Given the description of an element on the screen output the (x, y) to click on. 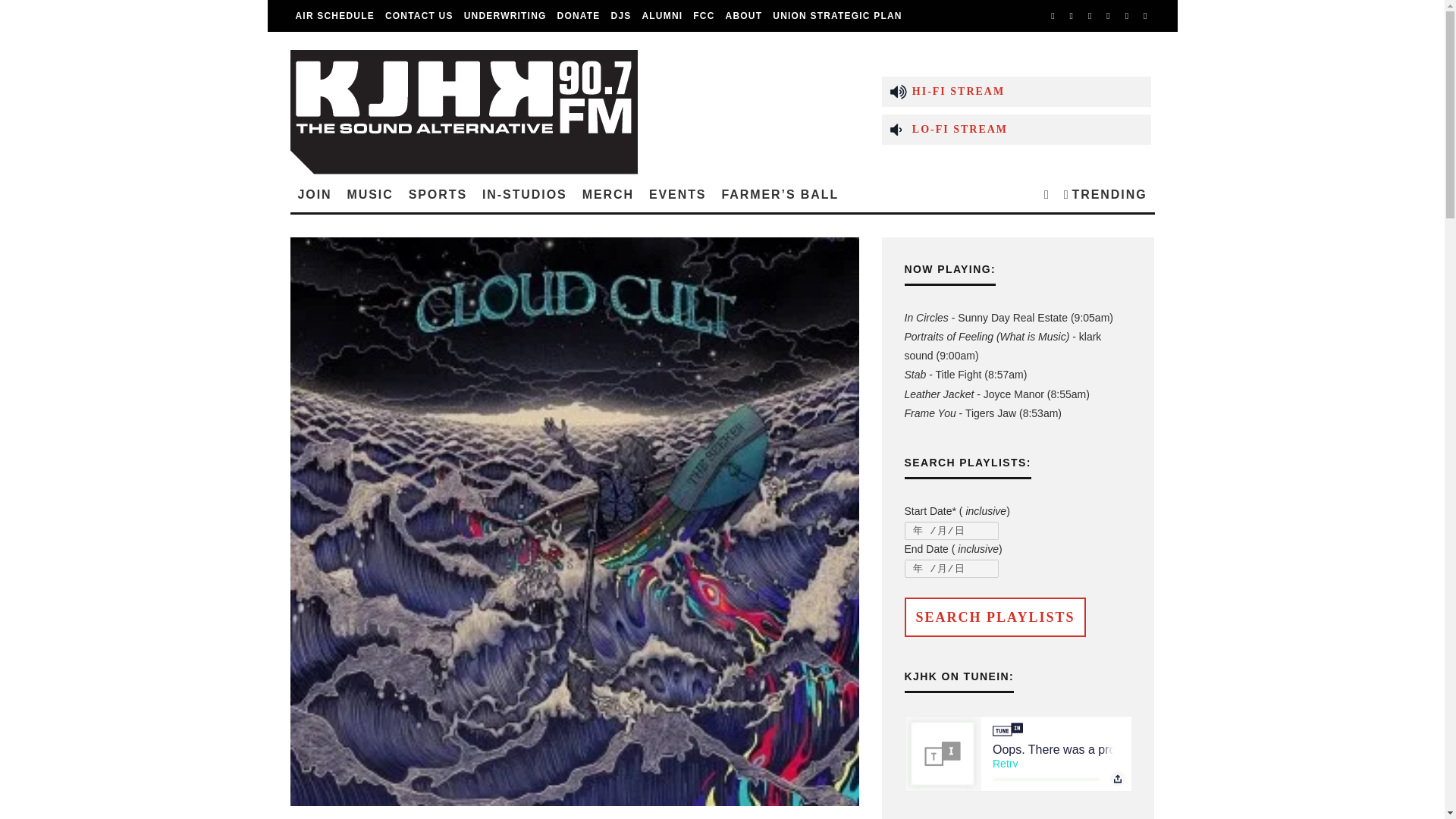
DONATE (578, 15)
HI-FI STREAM (1016, 91)
UNION STRATEGIC PLAN (837, 15)
DJS (621, 15)
CONTACT US (419, 15)
ALUMNI (661, 15)
AIR SCHEDULE (333, 15)
ABOUT (744, 15)
JOIN (314, 194)
UNDERWRITING (504, 15)
FCC (703, 15)
LO-FI STREAM (1016, 128)
